Given the description of an element on the screen output the (x, y) to click on. 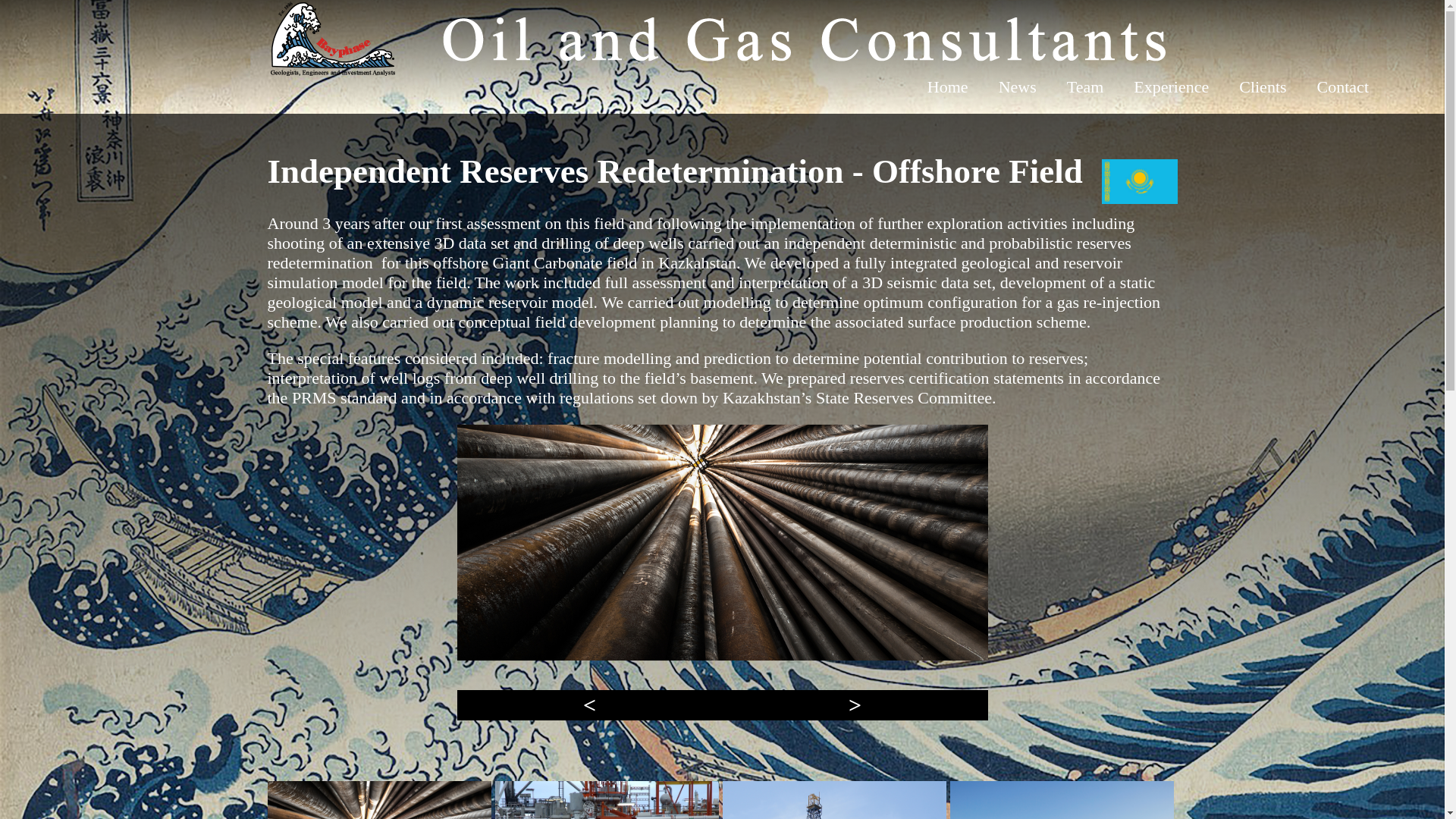
Team (1085, 87)
News (1017, 87)
Home (948, 87)
Experience (1171, 87)
Clients (1262, 87)
Contact (1342, 87)
